Given the description of an element on the screen output the (x, y) to click on. 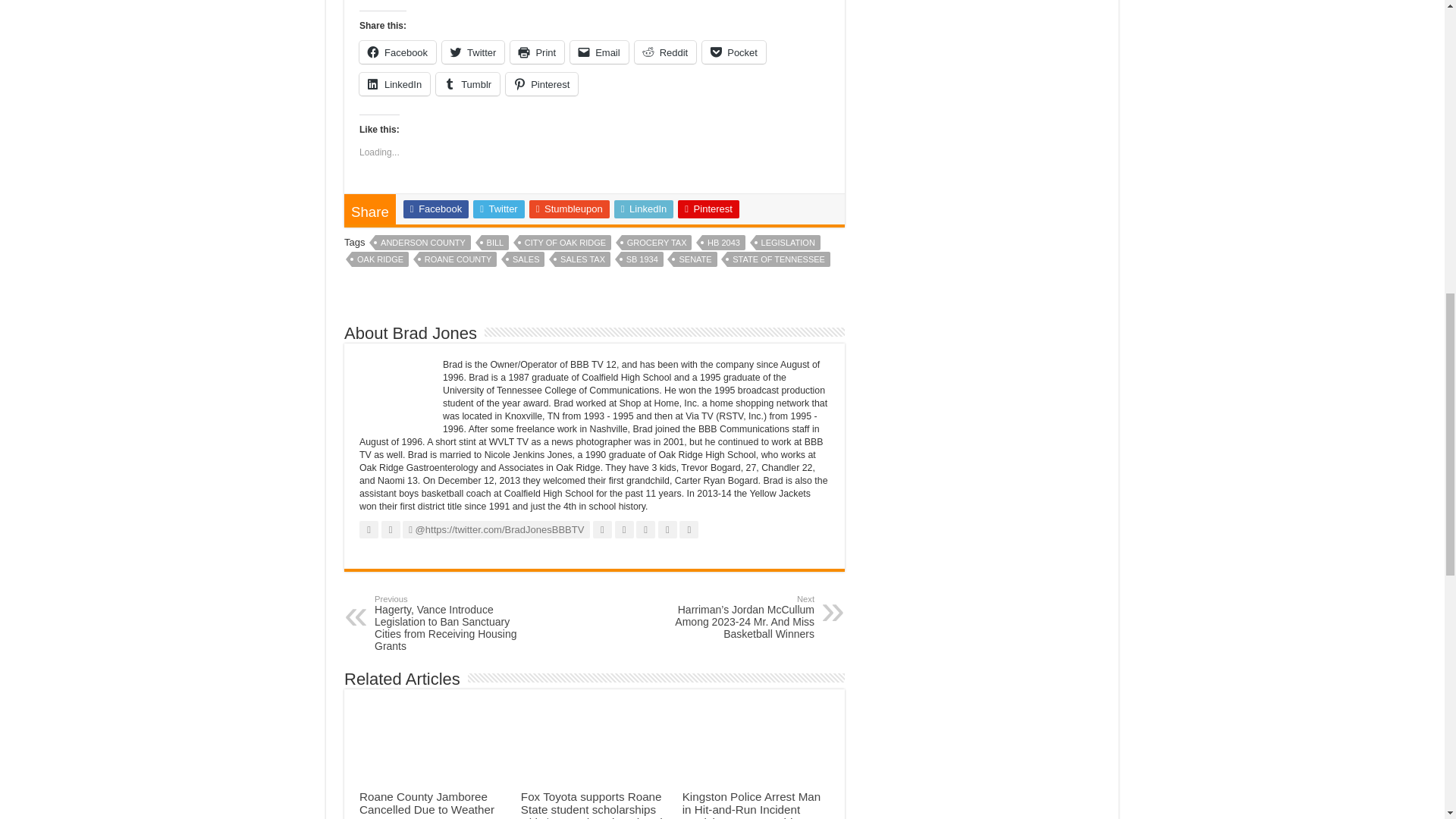
Pinterest (541, 83)
Twitter (472, 51)
Twitter (498, 208)
Tumblr (467, 83)
Facebook (435, 208)
Email (599, 51)
Print (537, 51)
Reddit (665, 51)
Pocket (733, 51)
Click to email a link to a friend (599, 51)
